Given the description of an element on the screen output the (x, y) to click on. 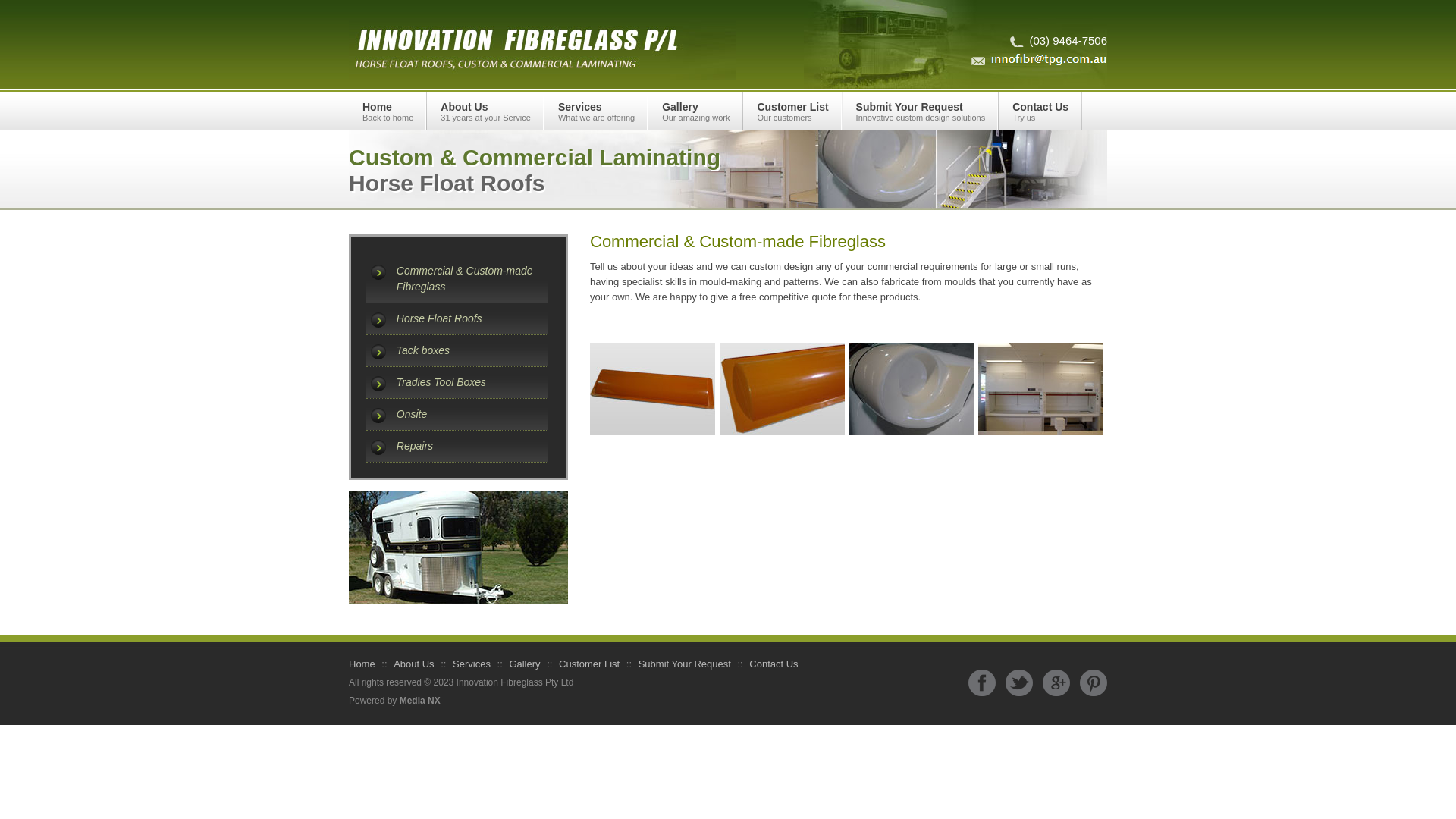
Gallery
Our amazing work Element type: text (695, 110)
Customised fibreglass  Element type: hover (1040, 388)
Customised fibreglass  Element type: hover (910, 388)
Customised fibreglass  Element type: hover (781, 388)
About Us Element type: text (413, 663)
Tradies Tool Boxes Element type: text (472, 382)
Submit Your Request Element type: text (684, 663)
Onsite Element type: text (472, 413)
Horse Float Roofs Element type: text (472, 318)
Contact Us Element type: text (773, 663)
Contact Us
Try us Element type: text (1040, 110)
Gallery Element type: text (523, 663)
(03) 9464-7506 Element type: text (1058, 40)
Customer List
Our customers Element type: text (792, 110)
Customised fibreglass  Element type: hover (652, 388)
Services
What we are offering Element type: text (596, 110)
Customer List Element type: text (588, 663)
Repairs Element type: text (472, 445)
Home Element type: text (361, 663)
Tack boxes Element type: text (472, 350)
Media NX Element type: text (419, 700)
Commercial & Custom-made Fibreglass Element type: text (472, 278)
Submit Your Request
Innovative custom design solutions Element type: text (920, 110)
Home
Back to home Element type: text (387, 110)
About Us
31 years at your Service Element type: text (485, 110)
Services Element type: text (471, 663)
